Given the description of an element on the screen output the (x, y) to click on. 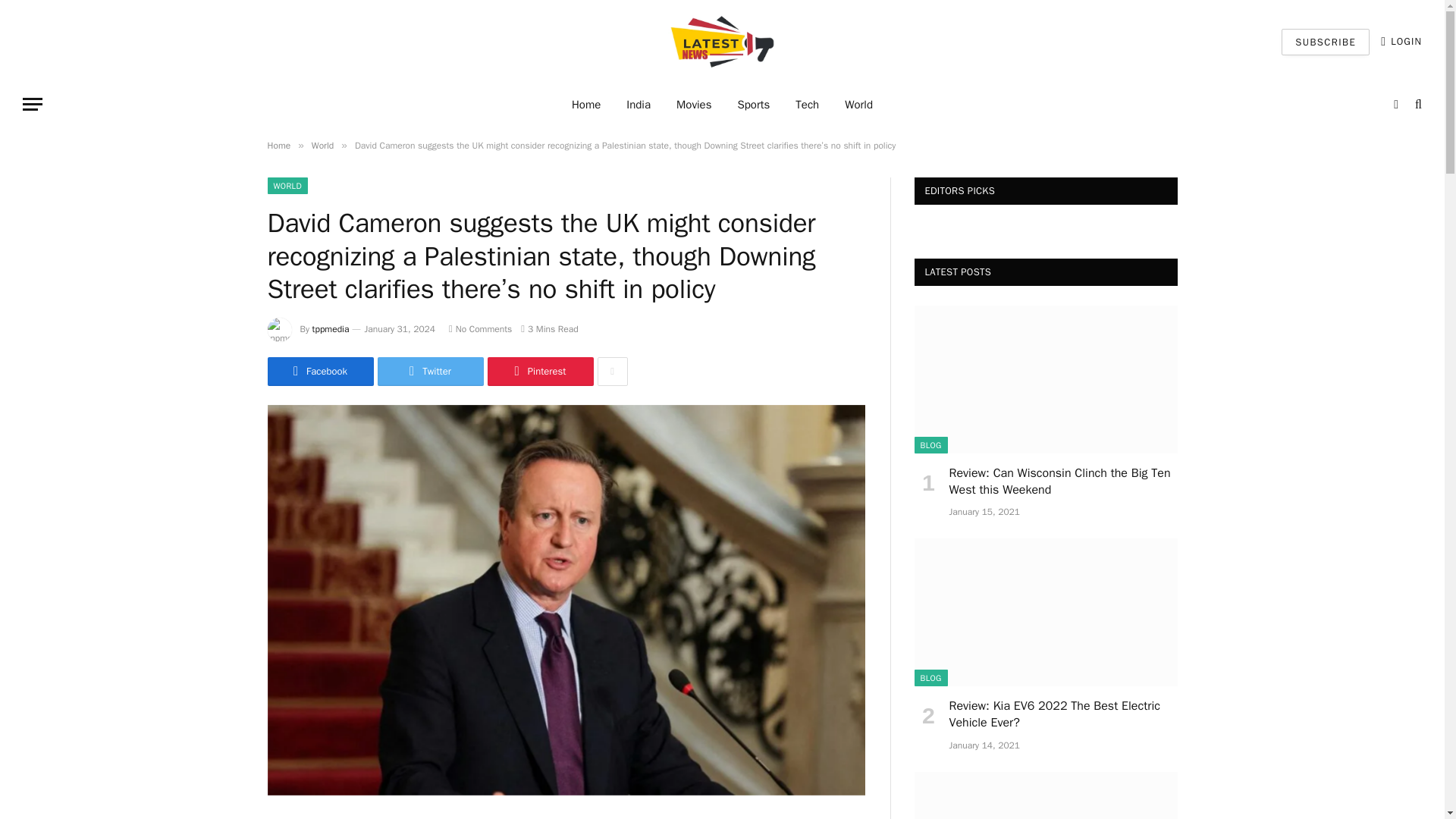
World (858, 104)
World (322, 145)
Switch to Dark Design - easier on eyes. (1396, 104)
India (637, 104)
Home (277, 145)
SUBSCRIBE (1325, 41)
Facebook (319, 371)
Share on Pinterest (539, 371)
Twitter (430, 371)
tppmedia (331, 328)
